Given the description of an element on the screen output the (x, y) to click on. 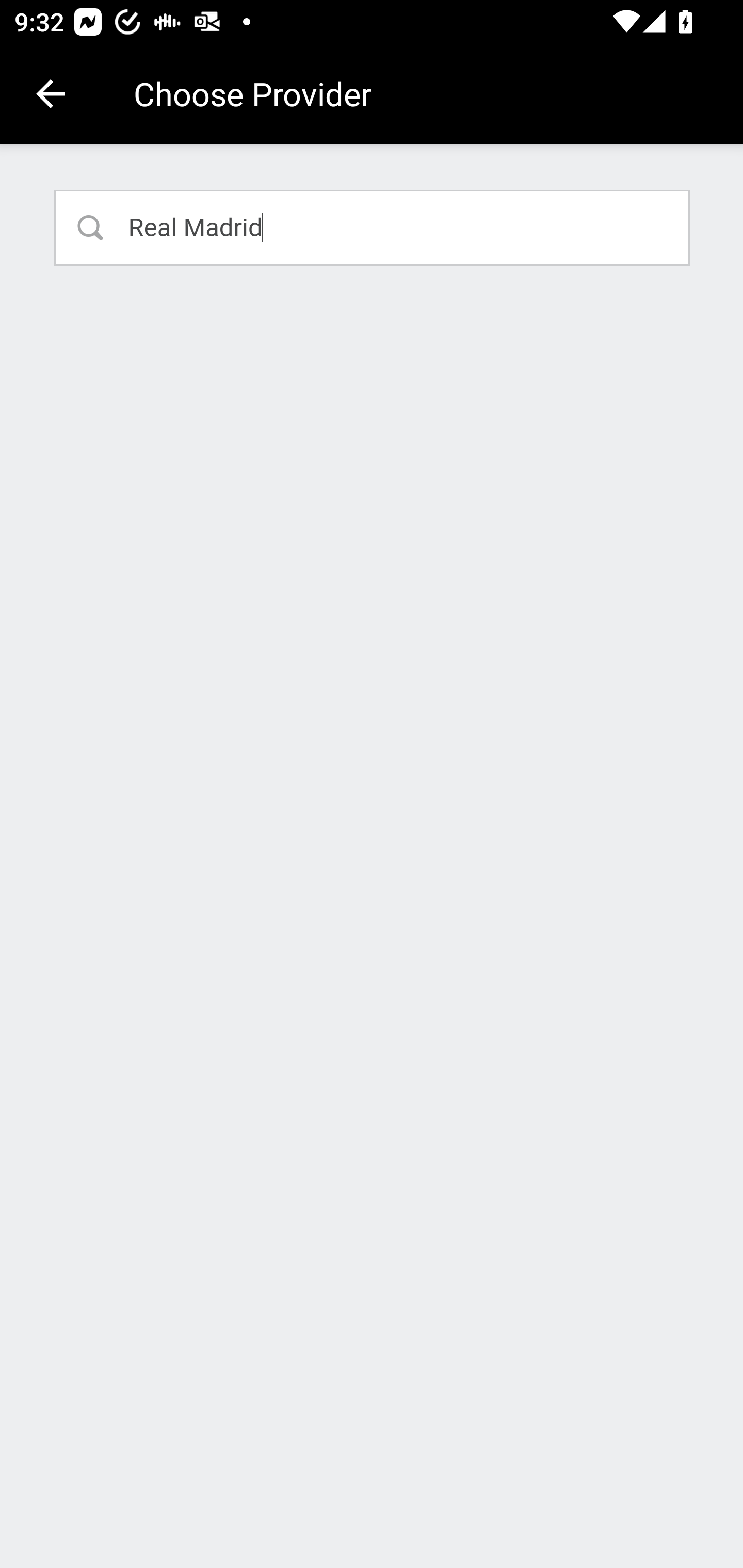
Navigate up (50, 93)
Real Madrid (372, 227)
